Given the description of an element on the screen output the (x, y) to click on. 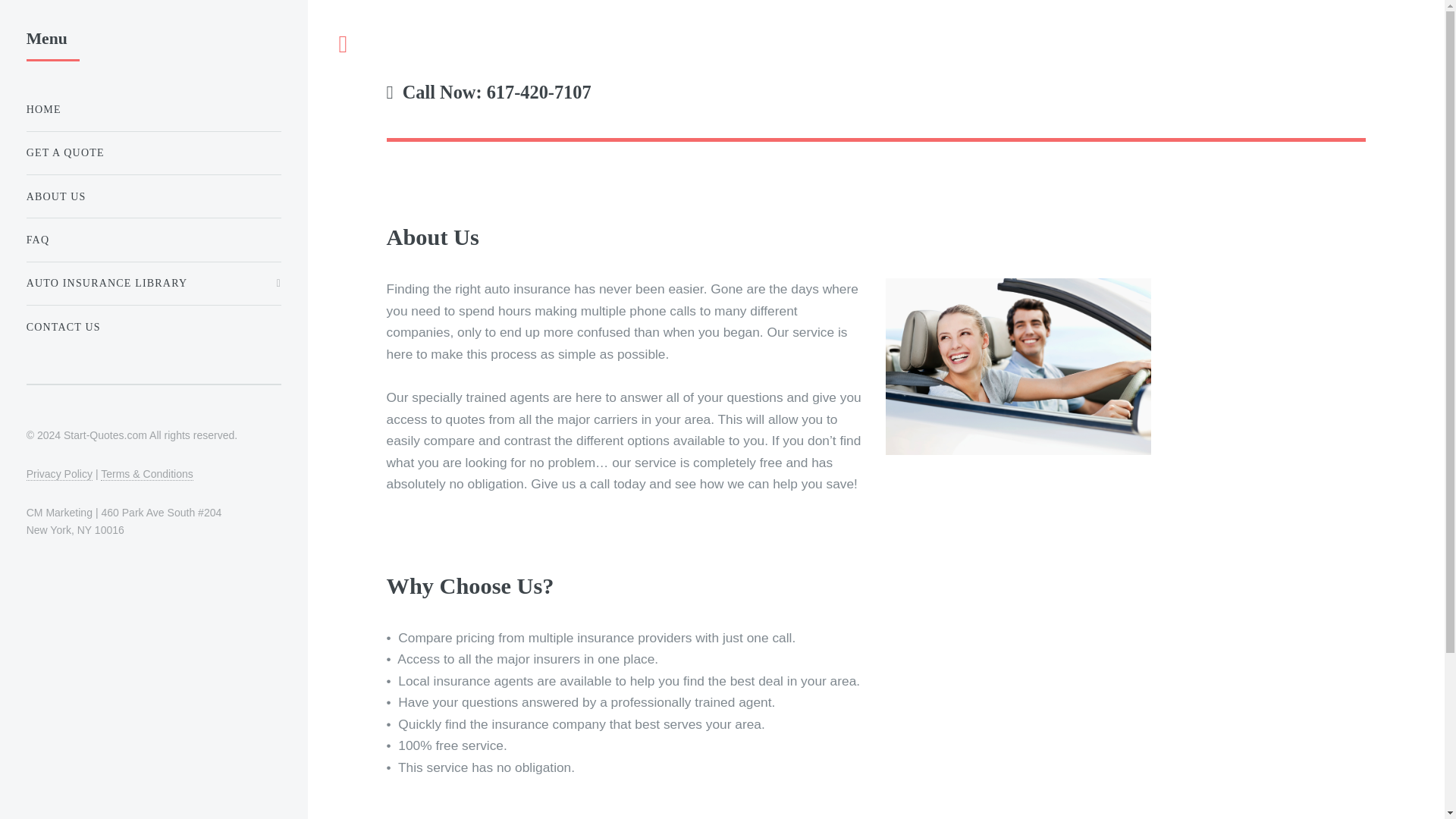
  Call Now: 617-420-7107 (876, 101)
FAQ (153, 239)
HOME (153, 109)
CONTACT US (153, 327)
GET A QUOTE (153, 153)
Privacy Policy (59, 473)
ABOUT US (153, 196)
